Given the description of an element on the screen output the (x, y) to click on. 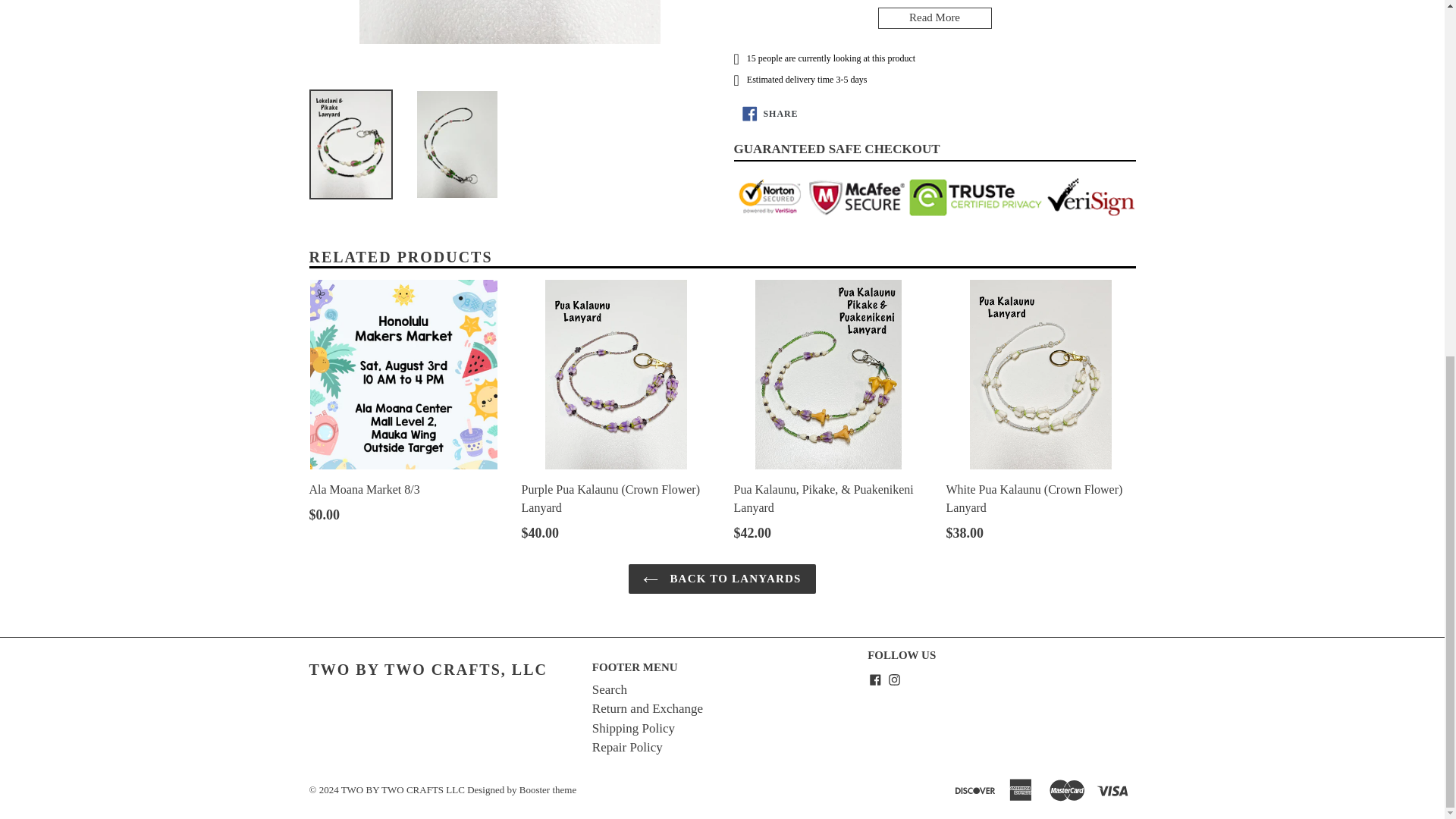
Share on Facebook (769, 113)
discover (976, 789)
visa (1114, 789)
american express (1022, 789)
Two By Two Crafts, LLC on Facebook (875, 678)
Two By Two Crafts, LLC on Instagram (894, 678)
